Given the description of an element on the screen output the (x, y) to click on. 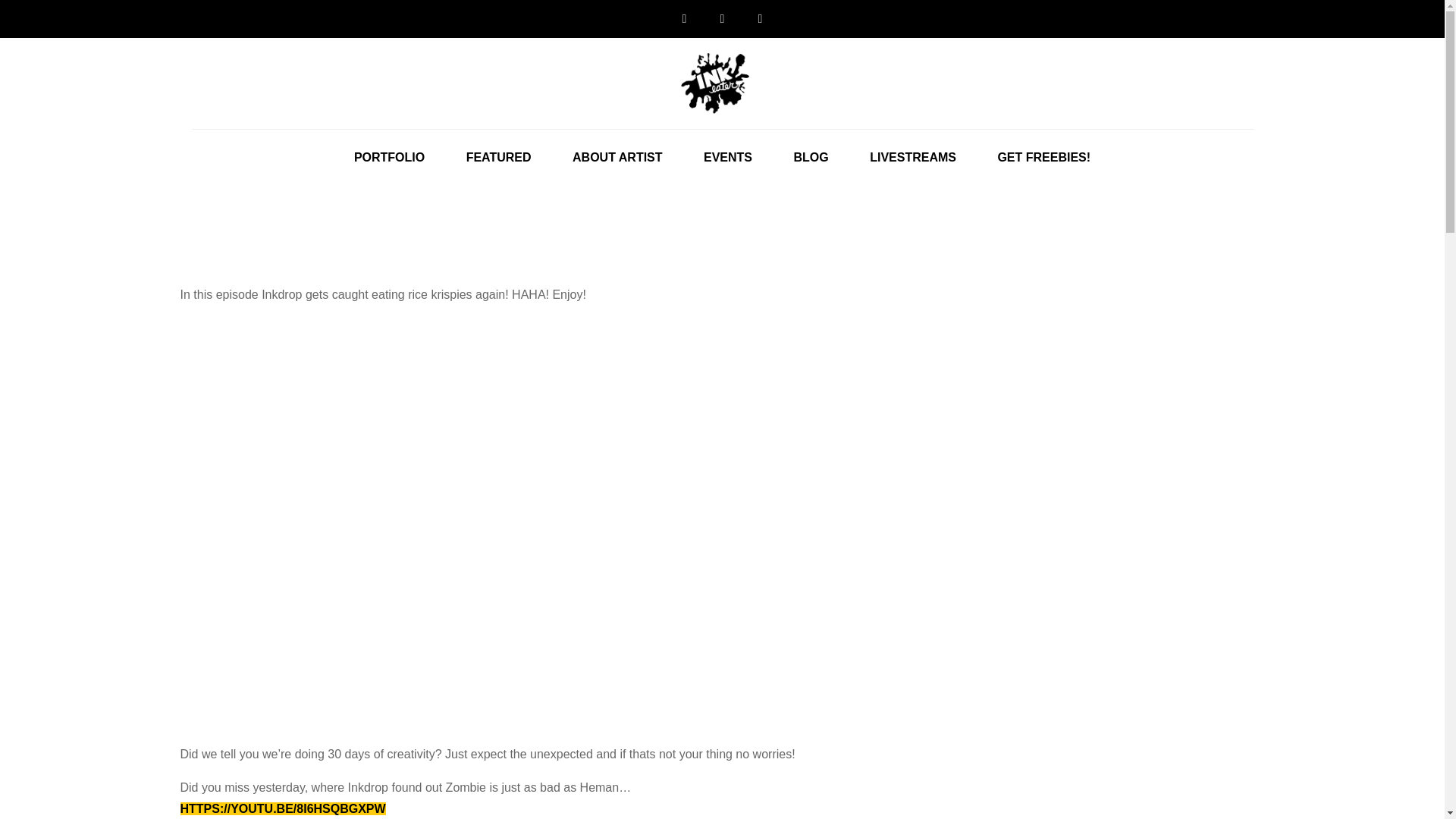
LIVESTREAMS (912, 157)
GET FREEBIES! (1043, 157)
PORTFOLIO (389, 157)
FEATURED (498, 157)
BLOG (810, 157)
EVENTS (727, 157)
ABOUT ARTIST (617, 157)
